Given the description of an element on the screen output the (x, y) to click on. 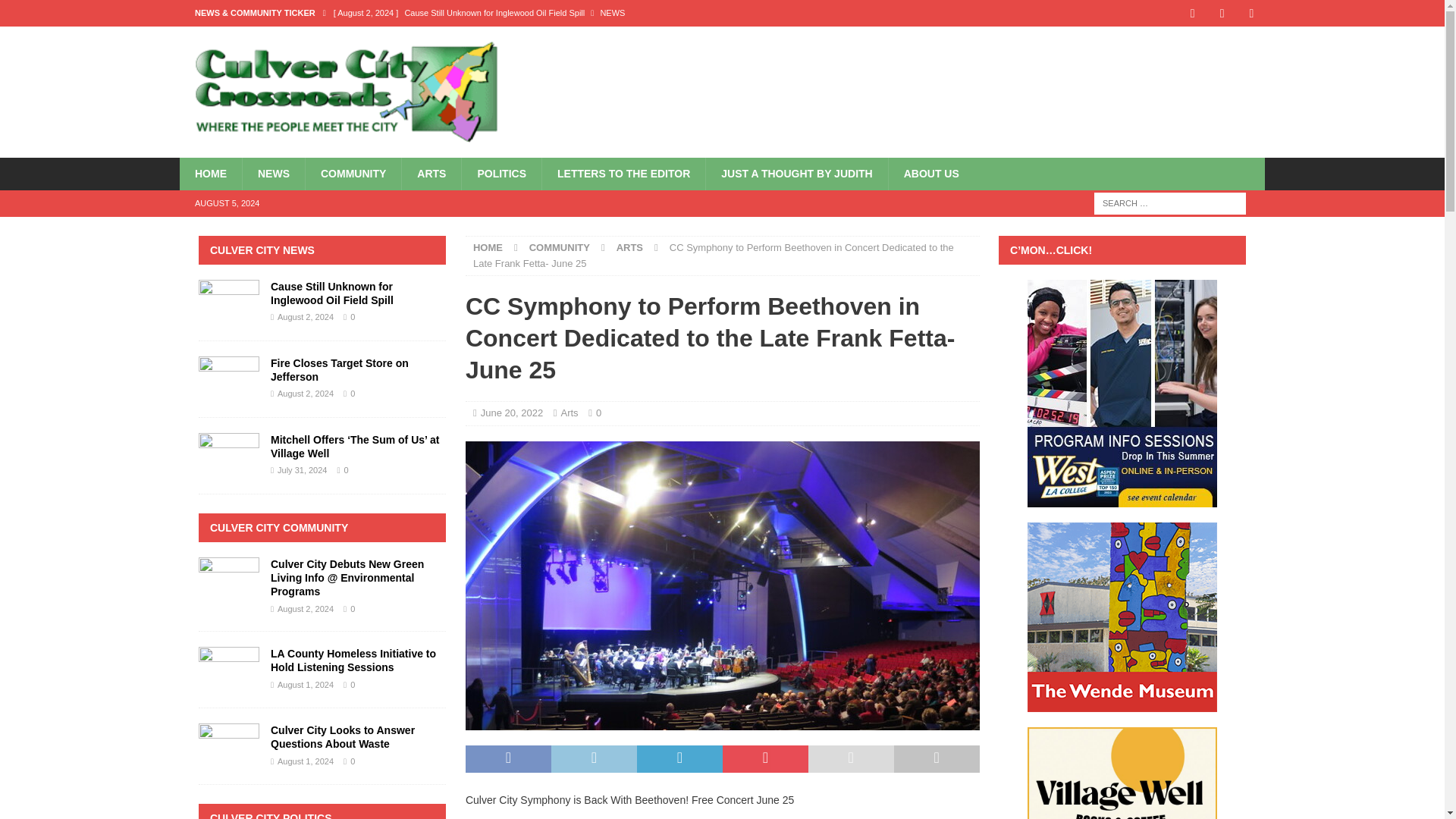
LETTERS TO THE EDITOR (622, 173)
Cause Still Unknown for Inglewood Oil Field Spill (606, 12)
ARTS (629, 247)
Fire Closes Target Store on Jefferson (606, 38)
POLITICS (501, 173)
JUST A THOUGHT BY JUDITH (795, 173)
June 20, 2022 (511, 412)
ARTS (431, 173)
COMMUNITY (559, 247)
HOME (210, 173)
ABOUT US (931, 173)
Search (56, 11)
Arts (569, 412)
NEWS (272, 173)
HOME (487, 247)
